Given the description of an element on the screen output the (x, y) to click on. 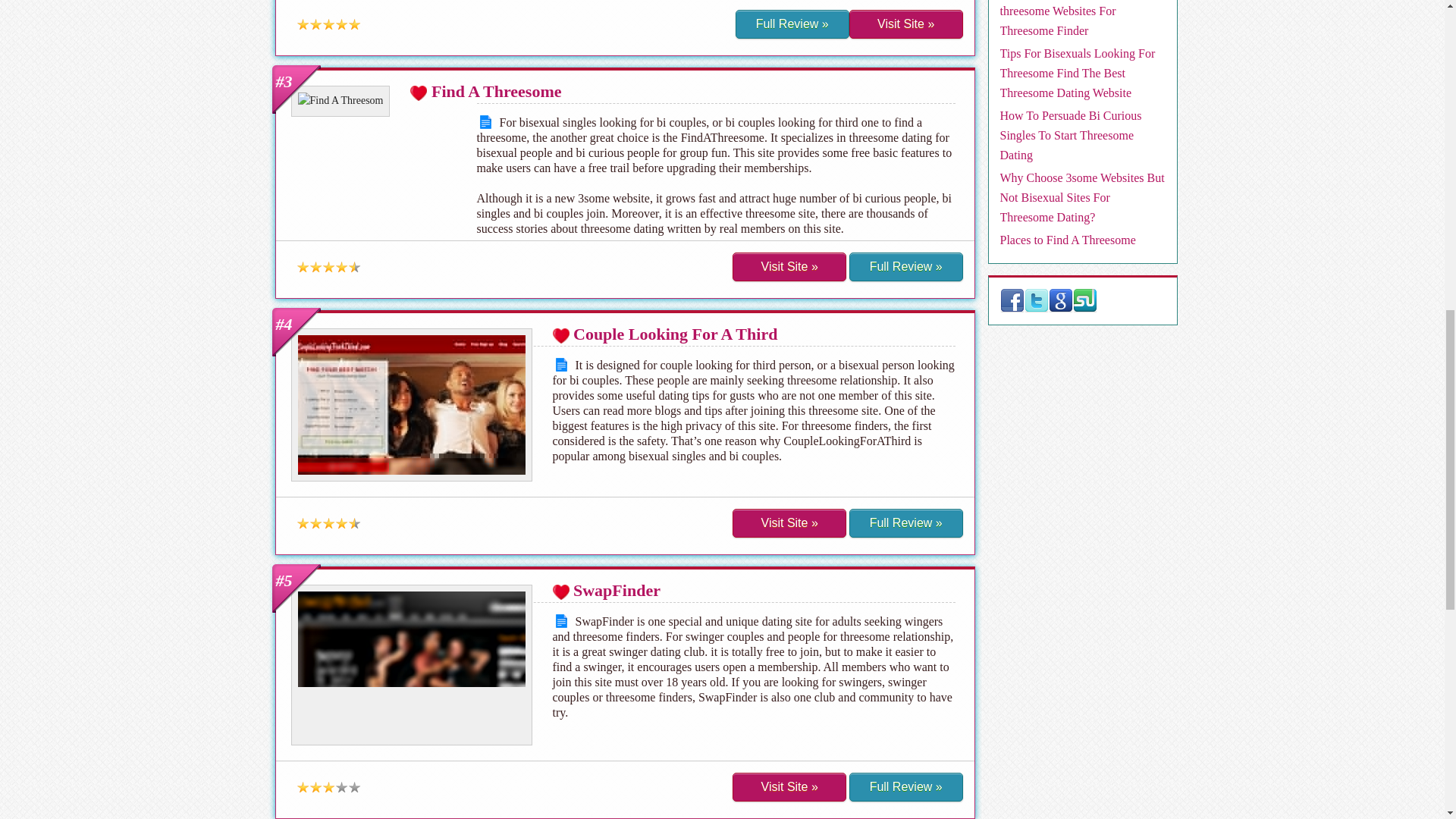
Couple Looking For A Third (675, 333)
Find A Threesome (496, 90)
Places to Find A Threesome (1066, 239)
How To Persuade Bi Curious Singles To Start Threesome Dating (1069, 134)
SwapFinder (617, 589)
